Given the description of an element on the screen output the (x, y) to click on. 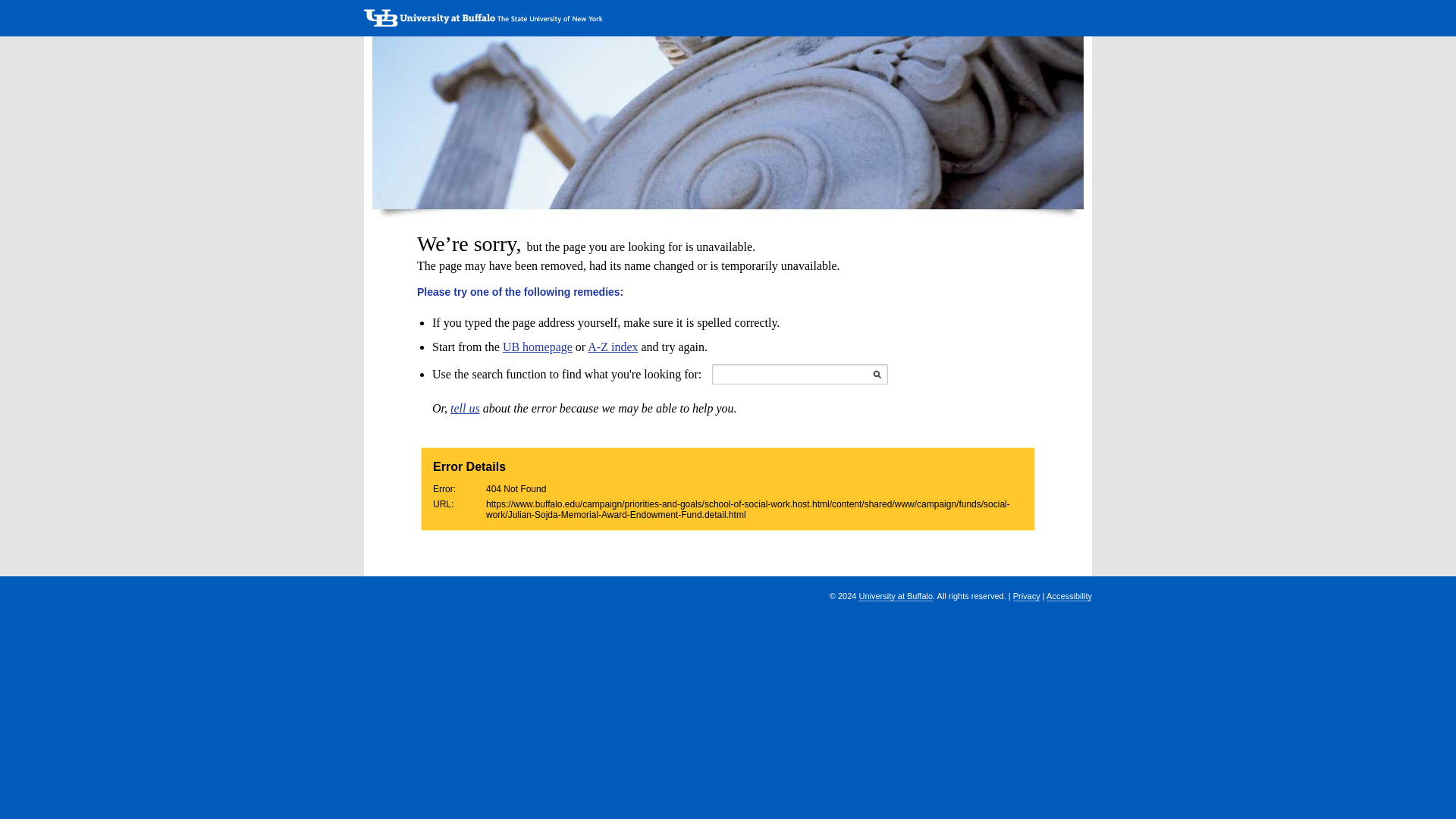
tell us (464, 408)
University at Buffalo (896, 596)
UB homepage (537, 346)
Accessibility (1069, 596)
Privacy (1027, 596)
A-Z index (612, 346)
